Given the description of an element on the screen output the (x, y) to click on. 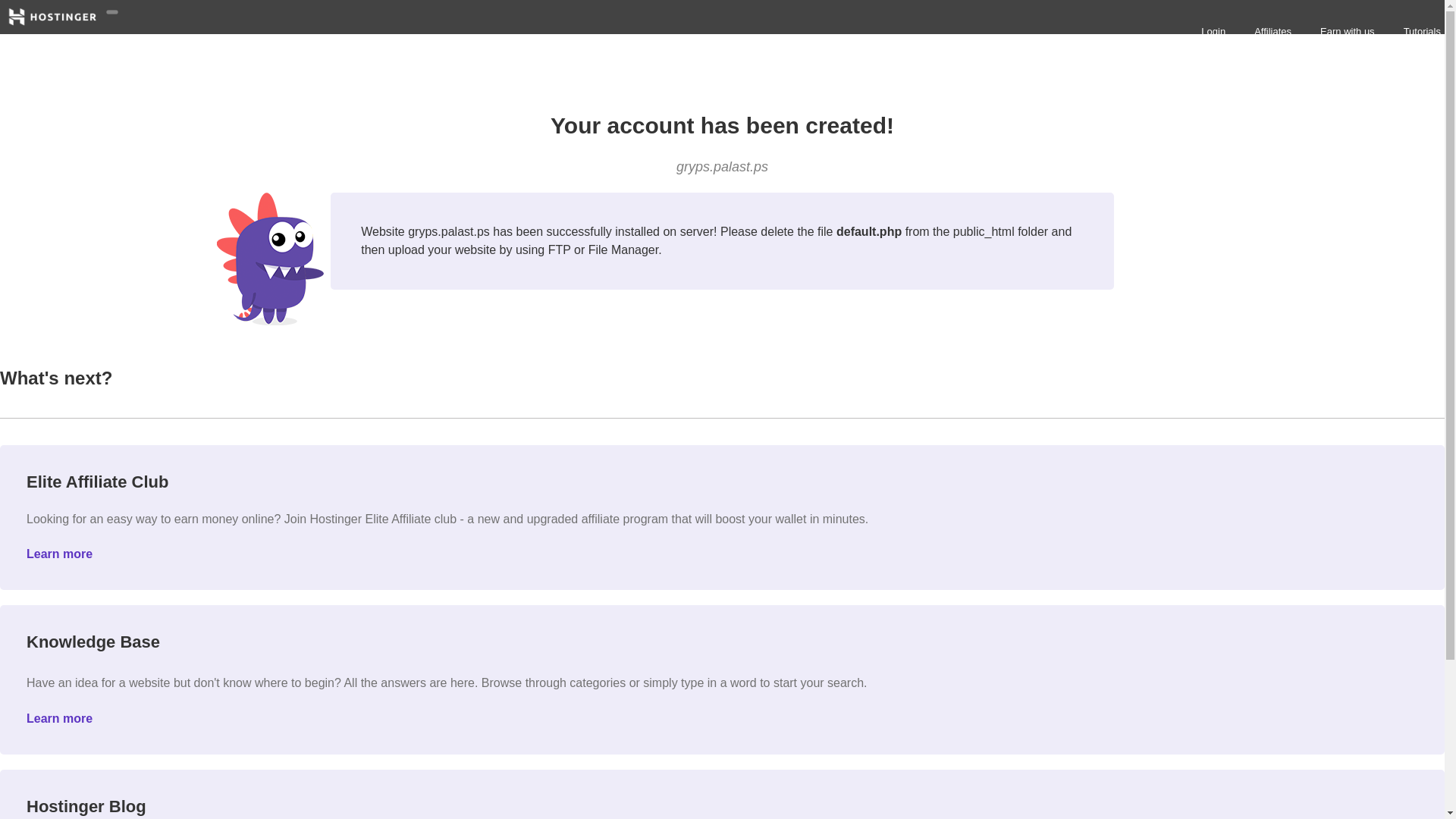
Affiliates (1270, 31)
Earn with us (1345, 31)
Login (1210, 31)
Learn more (59, 553)
Learn more (59, 717)
